Given the description of an element on the screen output the (x, y) to click on. 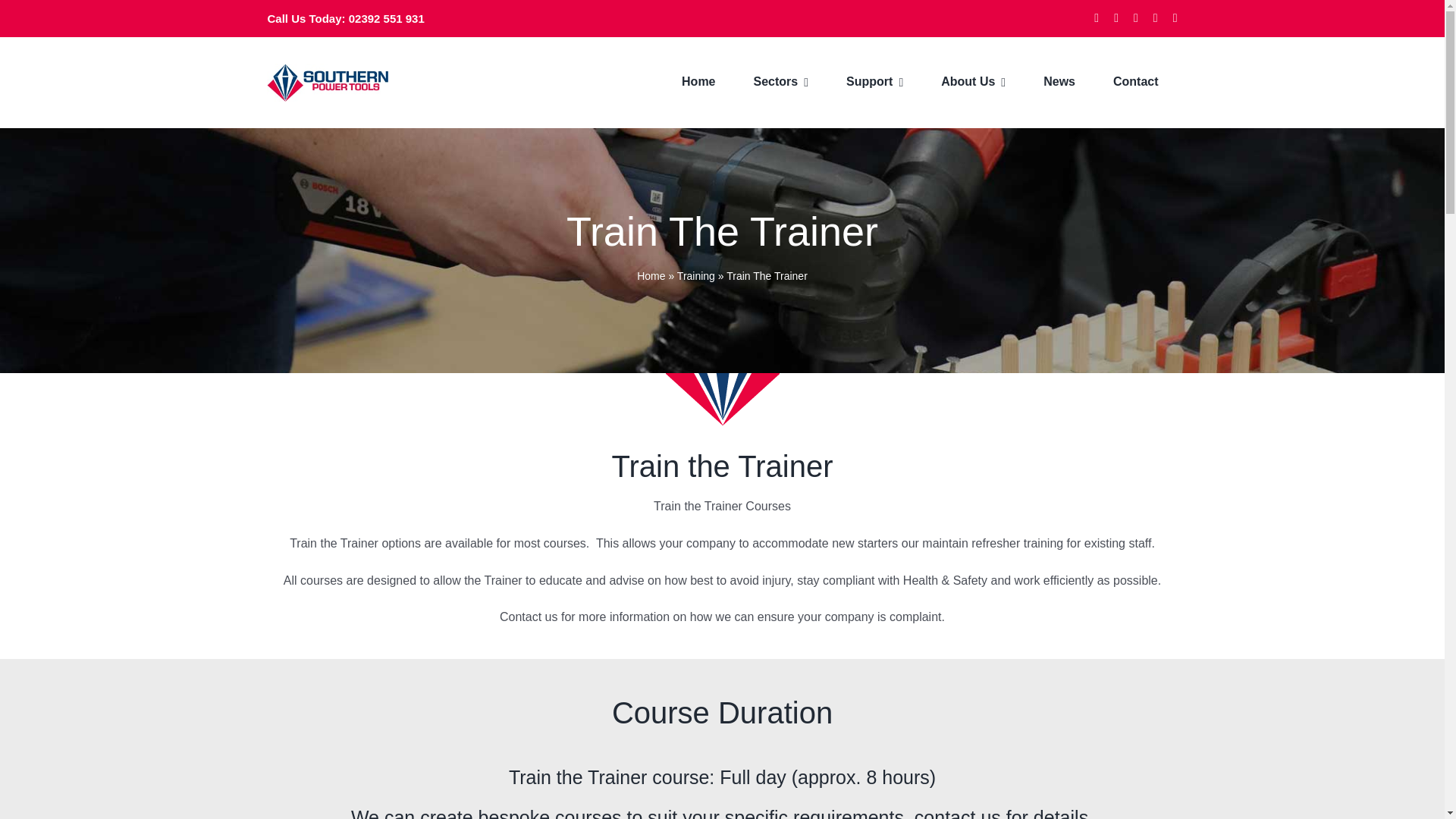
Home (651, 275)
Support (874, 81)
About Us (973, 81)
Training (695, 275)
Sectors (781, 81)
Contact (1135, 81)
